Given the description of an element on the screen output the (x, y) to click on. 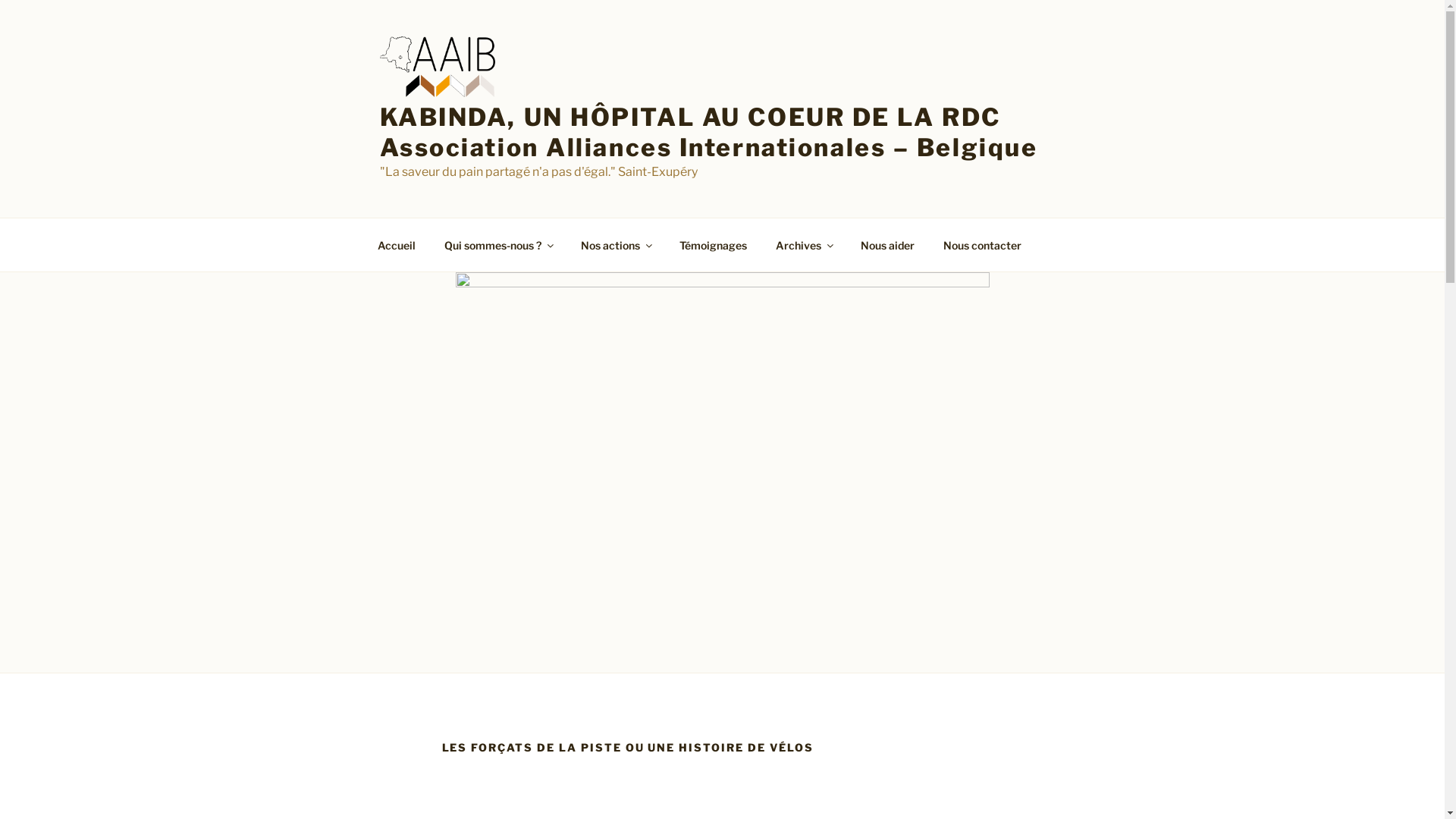
Aller au contenu principal Element type: text (0, 0)
Nous contacter Element type: text (981, 244)
Accueil Element type: text (396, 244)
Nous aider Element type: text (887, 244)
Archives Element type: text (803, 244)
Qui sommes-nous ? Element type: text (497, 244)
Nos actions Element type: text (615, 244)
